Given the description of an element on the screen output the (x, y) to click on. 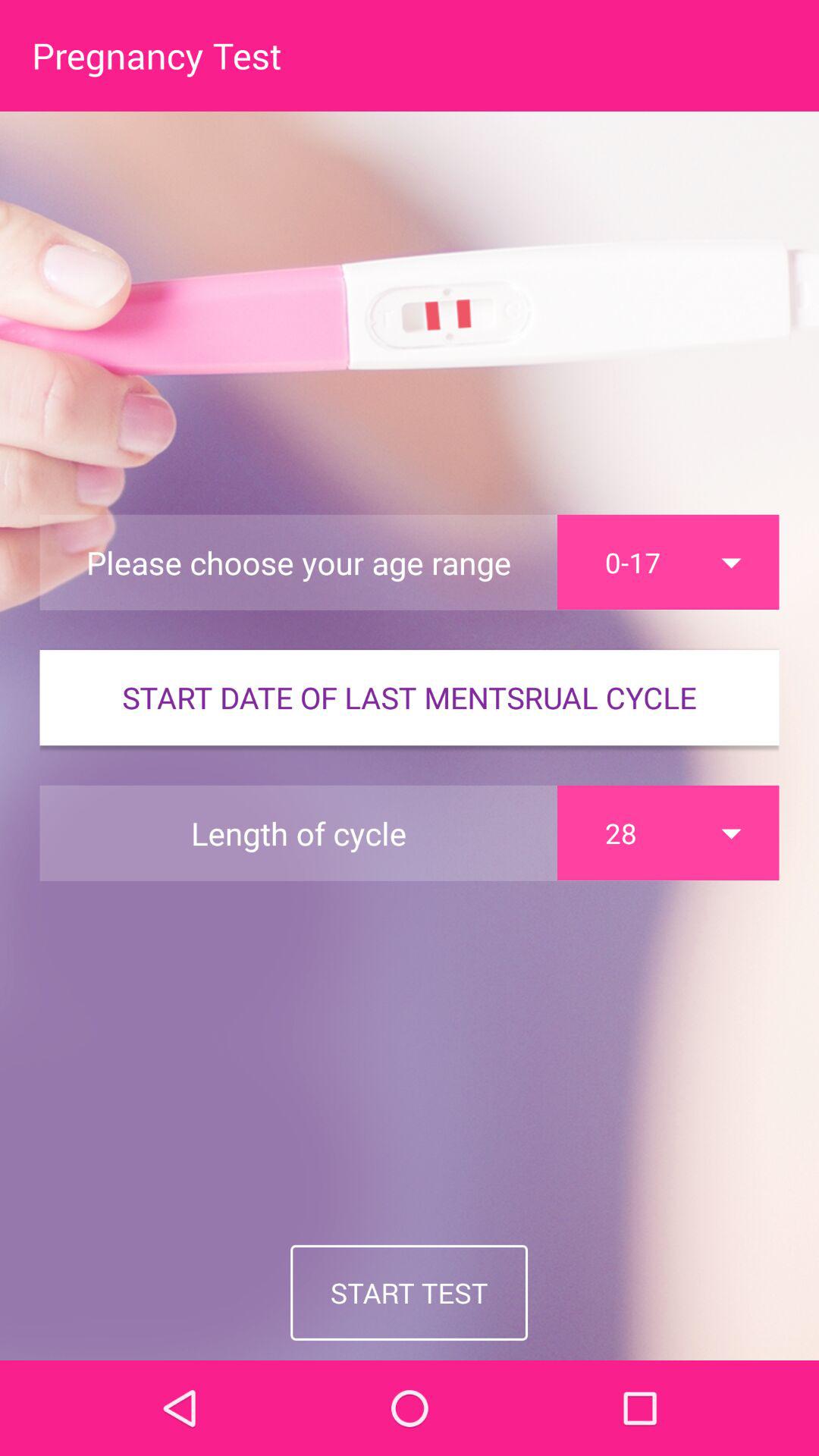
turn off icon above 28 icon (409, 697)
